Given the description of an element on the screen output the (x, y) to click on. 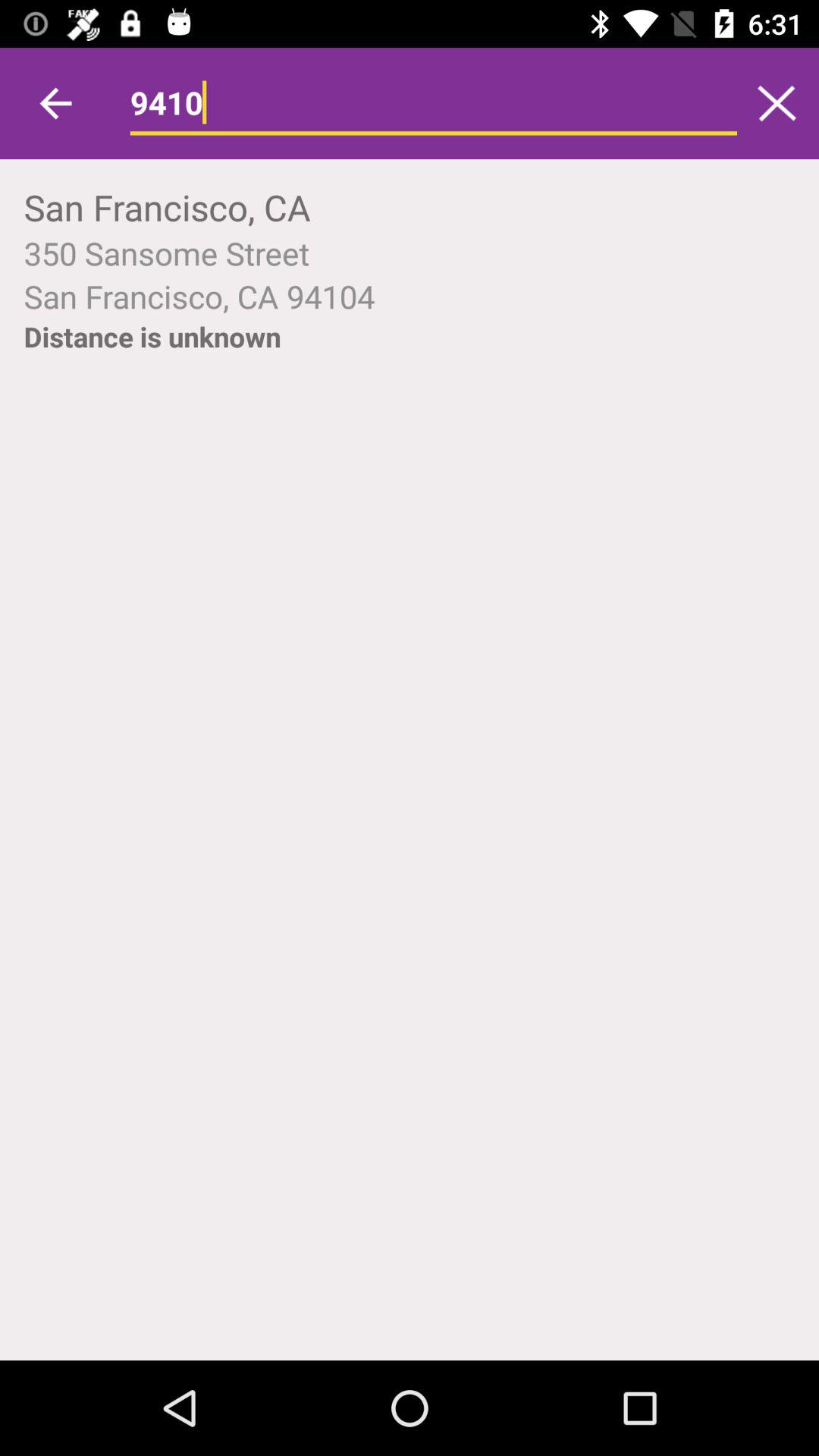
flip to distance is unknown item (151, 336)
